Given the description of an element on the screen output the (x, y) to click on. 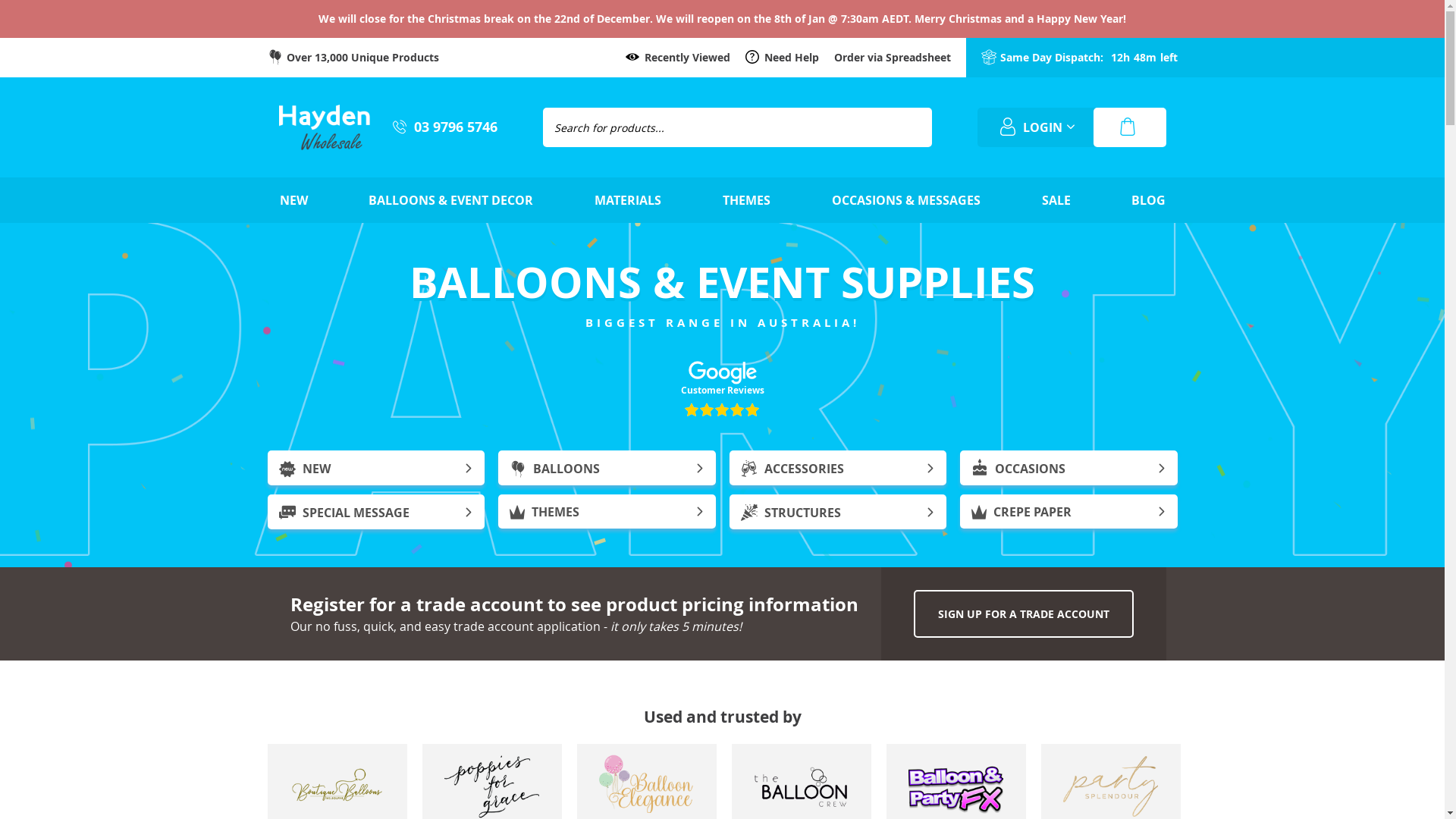
BALLOONS Element type: text (606, 467)
THEMES Element type: text (606, 511)
THEMES Element type: text (746, 199)
SPECIAL MESSAGE Element type: text (375, 511)
OCCASIONS Element type: text (1068, 467)
NEW Element type: text (293, 199)
MATERIALS Element type: text (627, 199)
NEW Element type: text (375, 467)
OCCASIONS & MESSAGES Element type: text (905, 199)
SIGN UP FOR A TRADE ACCOUNT Element type: text (1022, 613)
CREPE PAPER Element type: text (1068, 511)
Customer Reviews Element type: text (721, 388)
STRUCTURES Element type: text (838, 511)
BLOG Element type: text (1148, 199)
BALLOONS & EVENT DECOR Element type: text (450, 199)
Order via Spreadsheet Element type: text (892, 57)
ACCESSORIES Element type: text (838, 467)
SALE Element type: text (1056, 199)
